Given the description of an element on the screen output the (x, y) to click on. 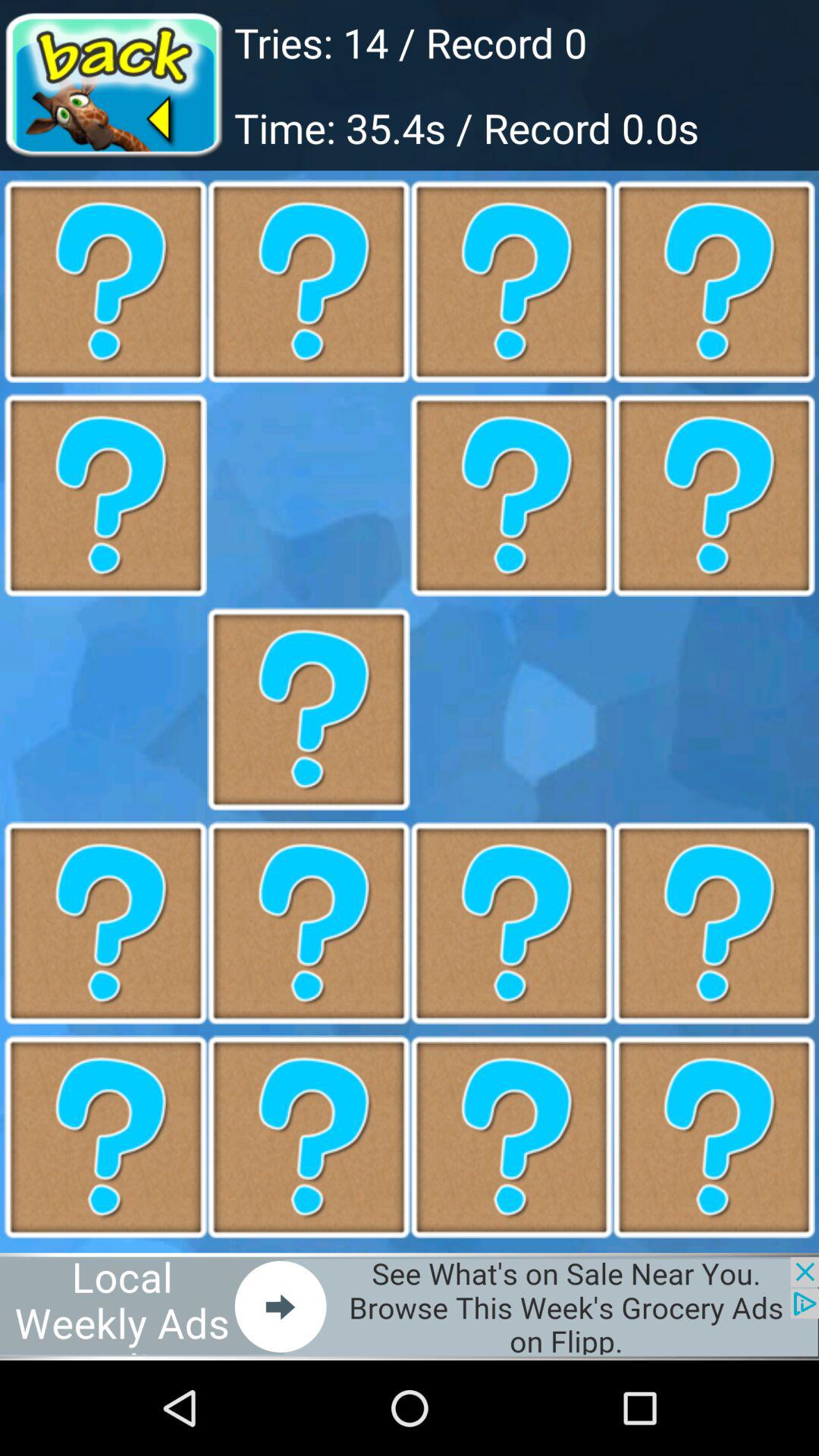
engage the advertisement open the website flipp (409, 1306)
